Given the description of an element on the screen output the (x, y) to click on. 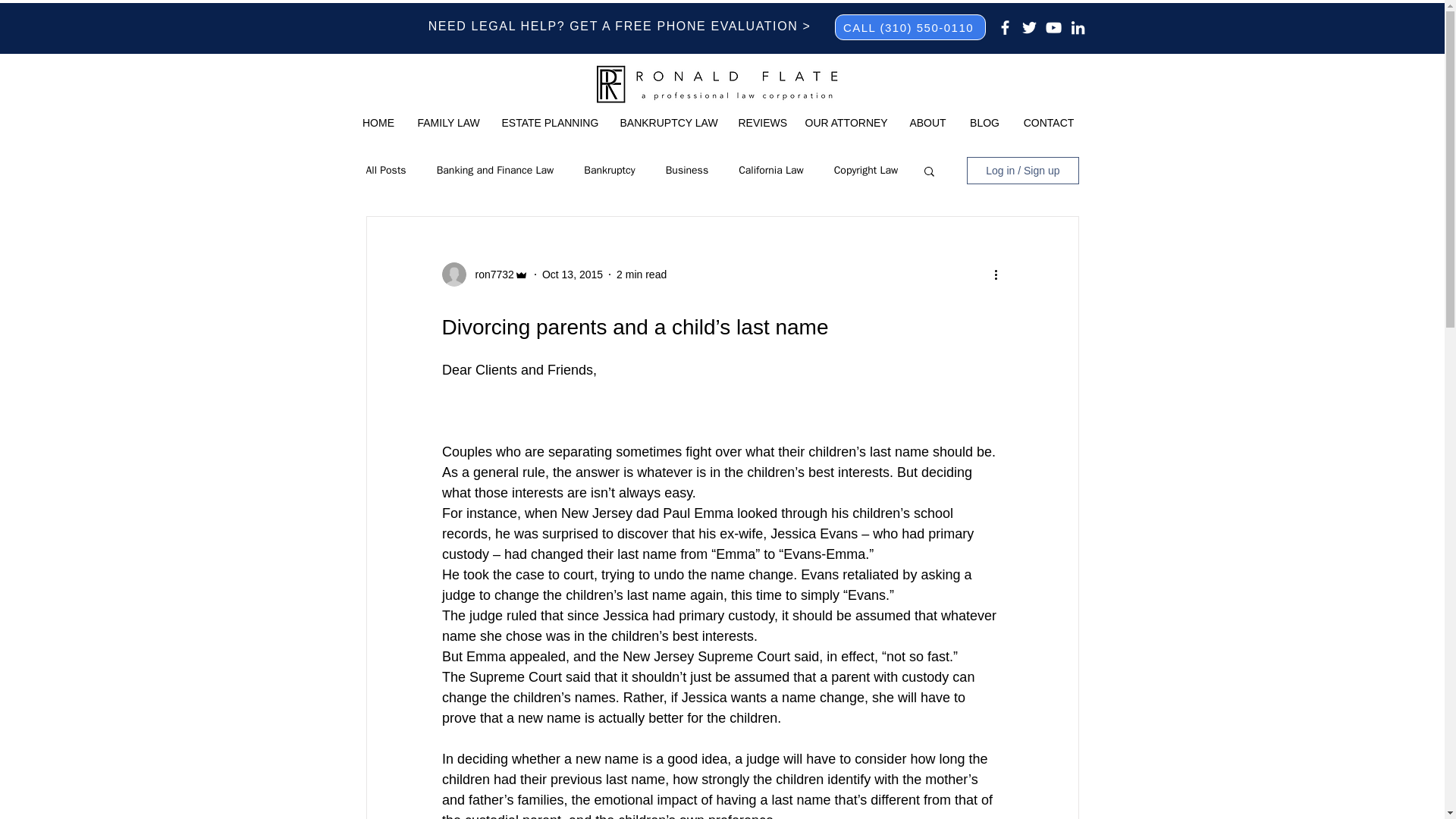
All Posts (385, 170)
BANKRUPTCY LAW (667, 122)
Business (686, 170)
ron7732 (489, 274)
Oct 13, 2015 (571, 274)
BLOG (984, 122)
FAMILY LAW (448, 122)
Copyright Law (866, 170)
HOME (378, 122)
REVIEWS (759, 122)
